Given the description of an element on the screen output the (x, y) to click on. 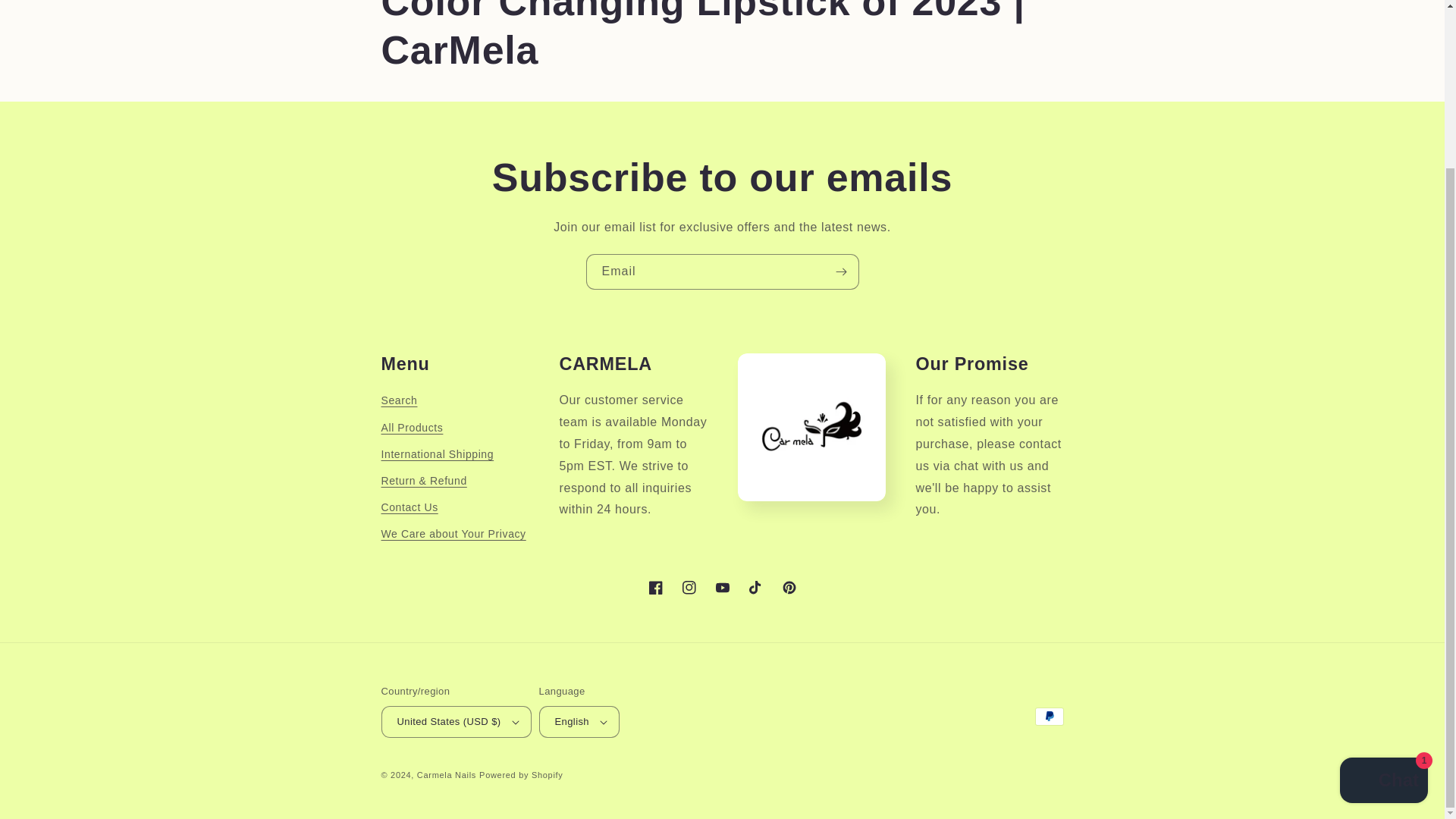
Contact Us (409, 507)
YouTube (721, 587)
TikTok (754, 587)
Facebook (655, 587)
Instagram (687, 587)
English (579, 721)
All Products (411, 427)
International Shipping (436, 454)
Powered by Shopify (520, 774)
Carmela Nails (446, 774)
Shopify online store chat (1383, 581)
Search (398, 402)
We Care about Your Privacy (452, 533)
Pinterest (788, 587)
